Given the description of an element on the screen output the (x, y) to click on. 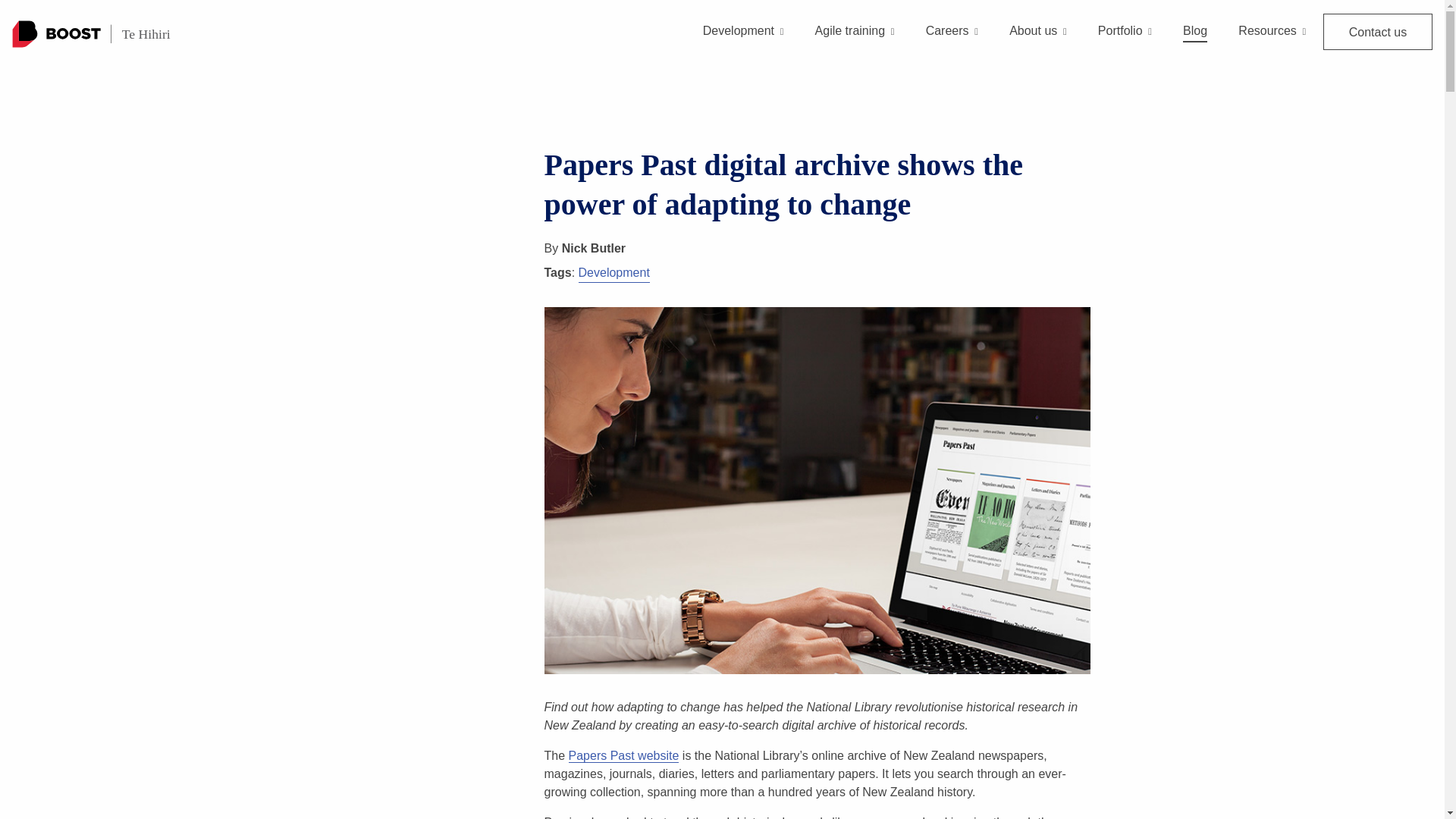
Agile training (855, 43)
Development (743, 43)
About us (1037, 43)
Careers (952, 43)
Papers Past website (624, 755)
Development (613, 272)
Contact us (1377, 31)
Resources (1272, 43)
Portfolio (1124, 43)
